Given the description of an element on the screen output the (x, y) to click on. 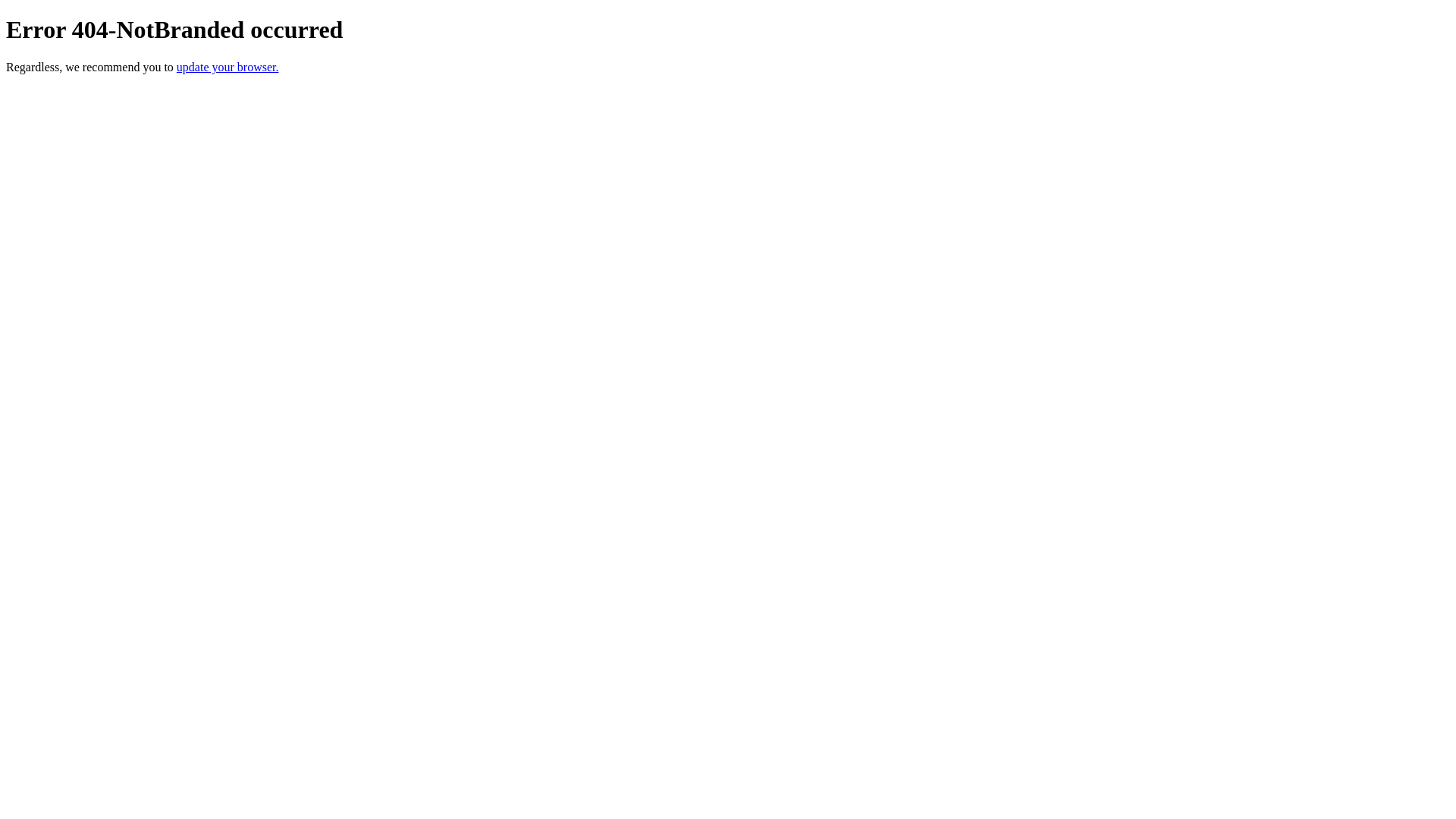
update your browser. Element type: text (227, 66)
